Given the description of an element on the screen output the (x, y) to click on. 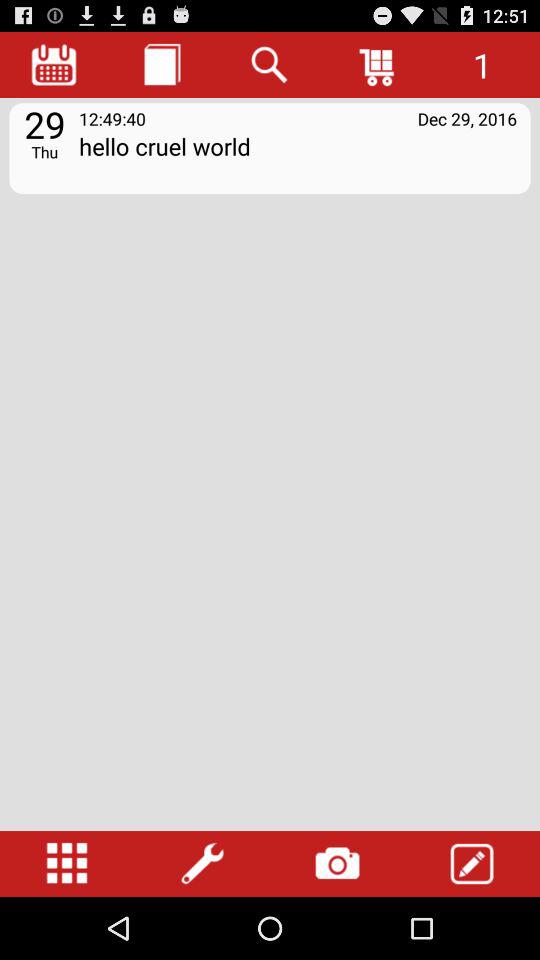
press item next to 12:49:40 item (467, 118)
